Given the description of an element on the screen output the (x, y) to click on. 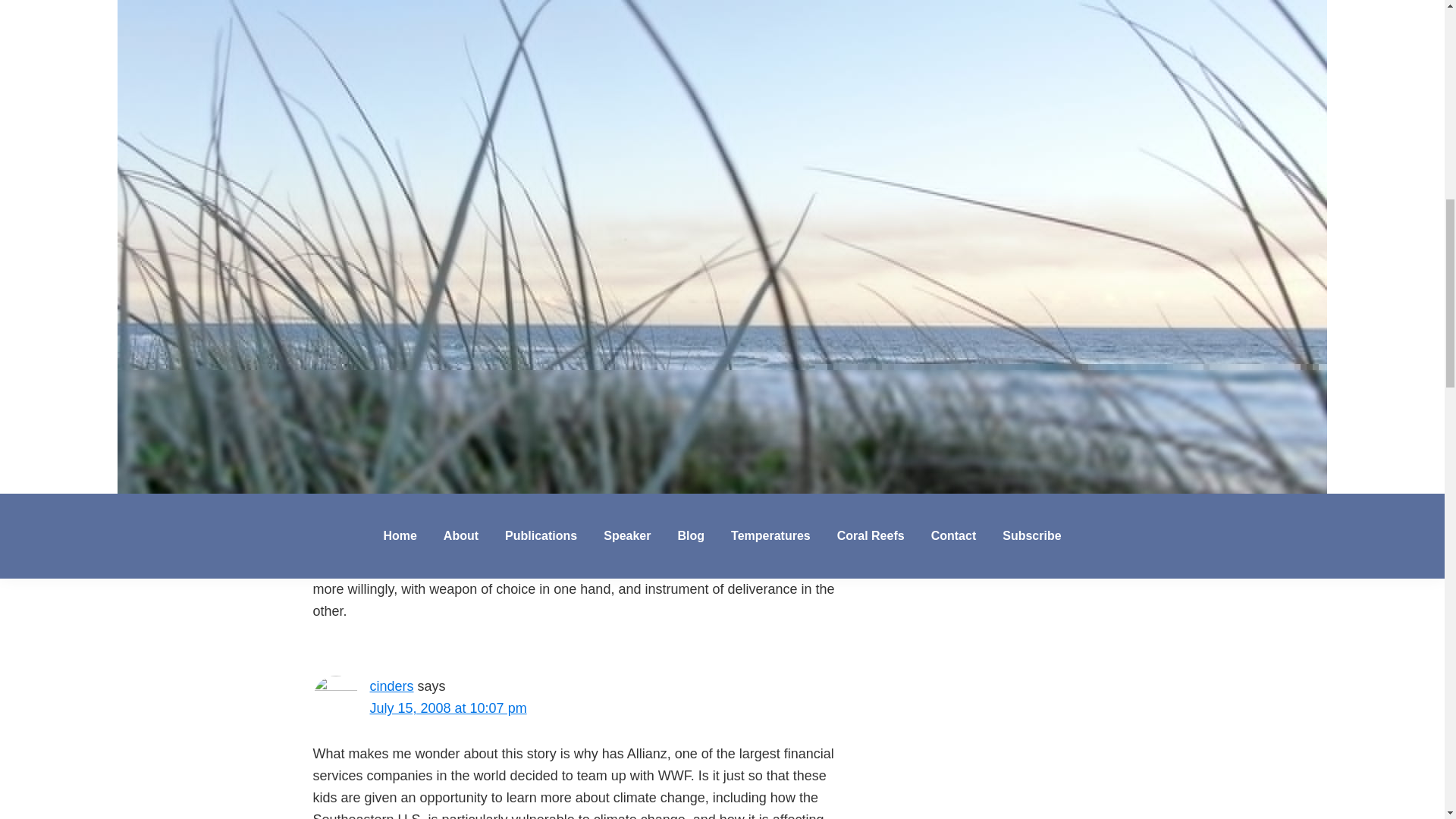
consistent (770, 77)
July 15, 2008 at 10:07 pm (448, 708)
July 15, 2008 at 9:11 pm (444, 499)
cinders (391, 685)
July 15, 2008 at 6:41 pm (444, 335)
John Brignell (439, 10)
Uncategorized (420, 159)
